Given the description of an element on the screen output the (x, y) to click on. 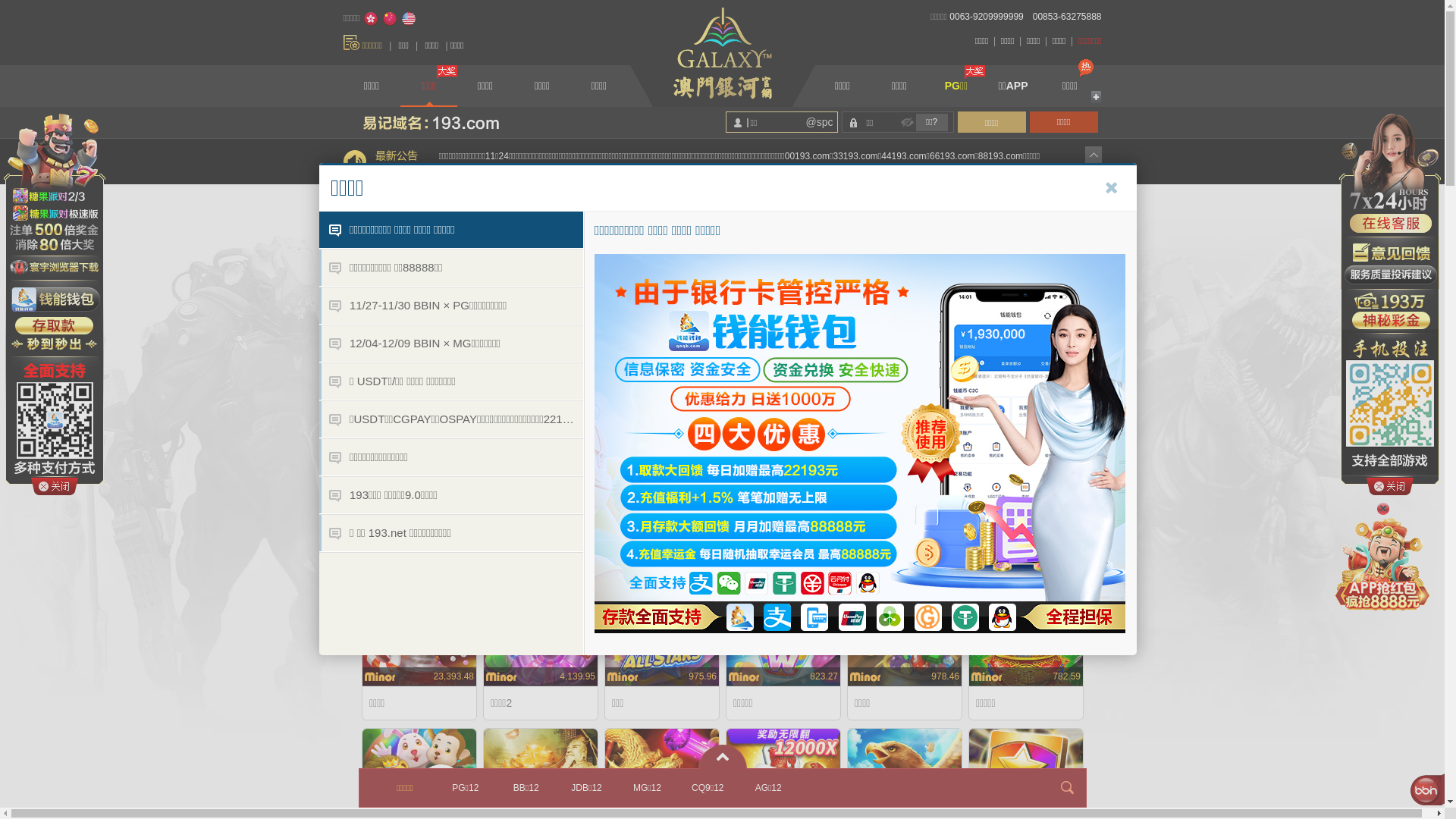
English Element type: hover (408, 18)
